Given the description of an element on the screen output the (x, y) to click on. 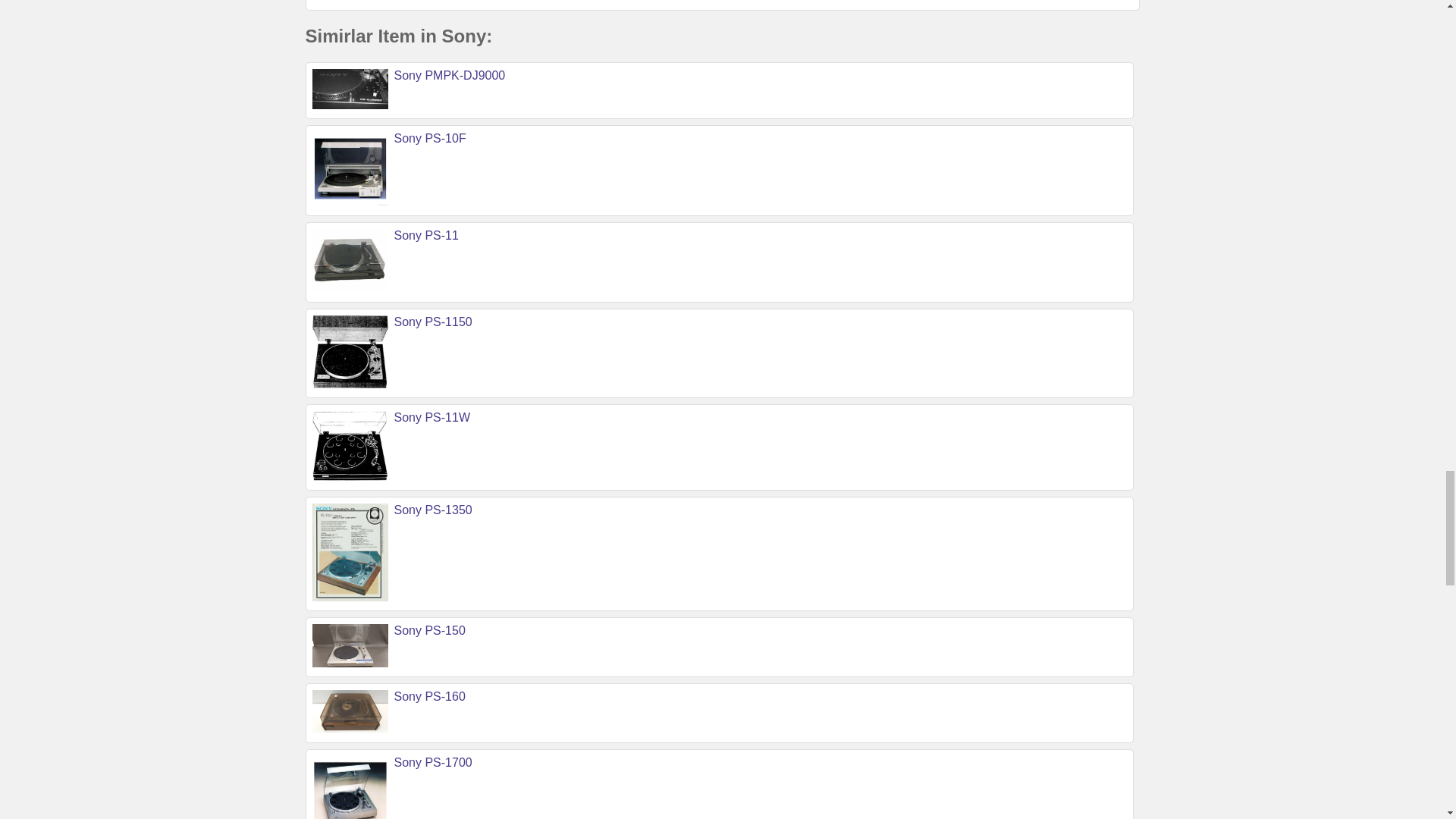
Sony PS-160 (429, 696)
Sony PS-11 (426, 235)
Sony PS-1700 (432, 762)
Sony PS-1150 (432, 321)
Sony PMPK-DJ9000 (449, 74)
Sony PS-10F (429, 137)
Sony PS-11W (432, 417)
Sony PS-150 (429, 630)
Sony PS-1350 (432, 509)
